Given the description of an element on the screen output the (x, y) to click on. 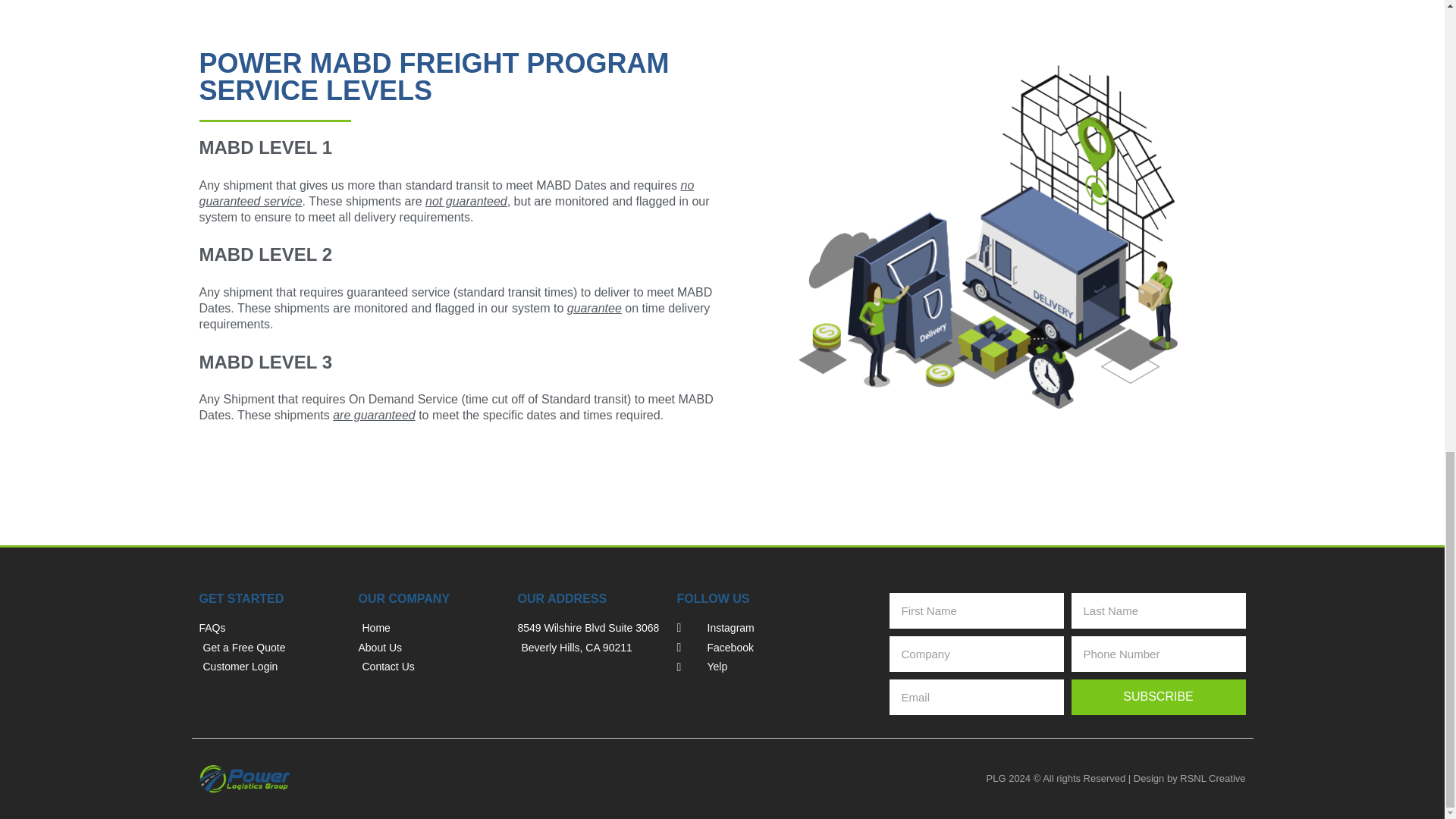
FAQs (270, 627)
Get a Free Quote (270, 647)
